Given the description of an element on the screen output the (x, y) to click on. 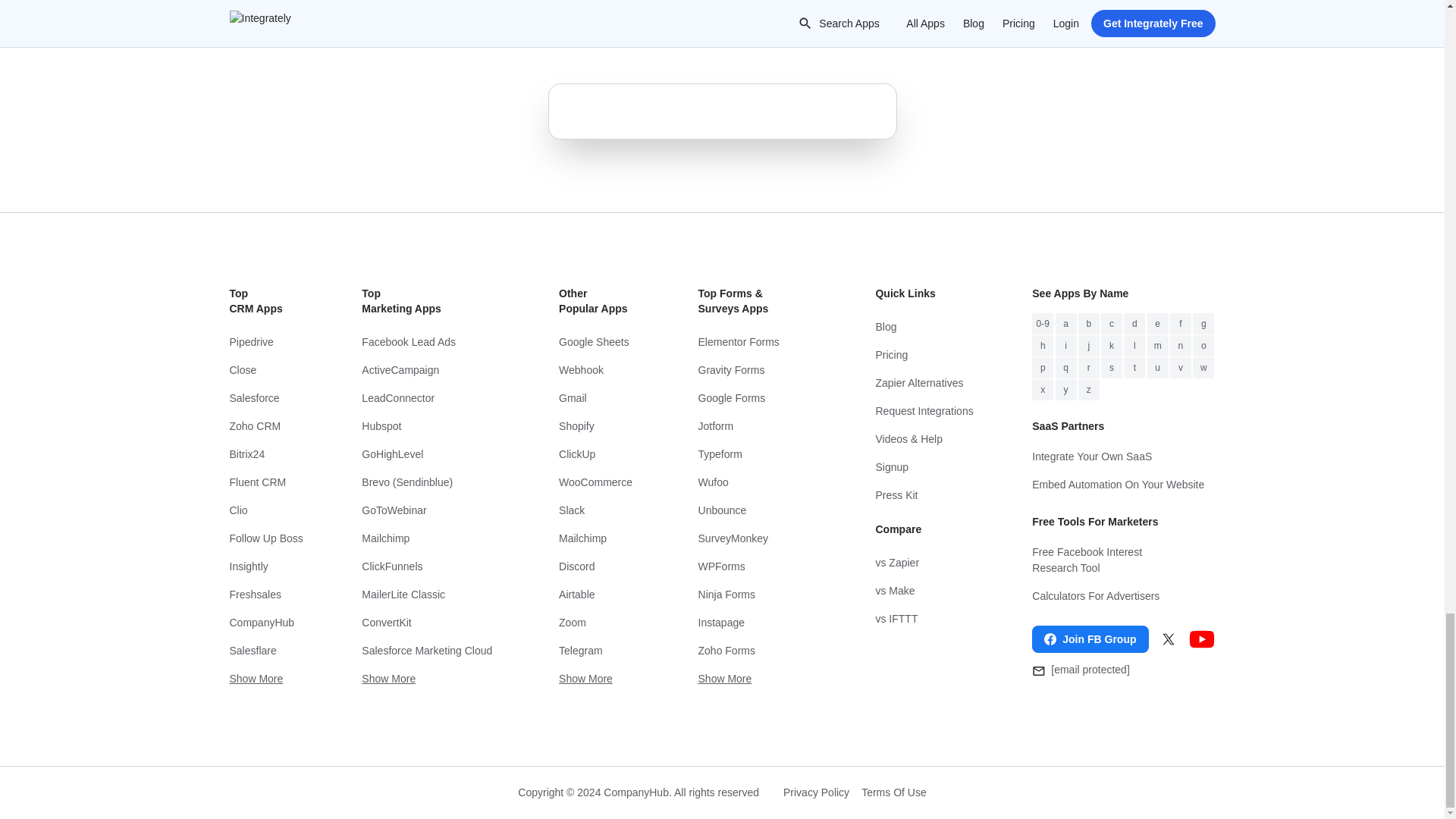
GoToWebinar (430, 510)
Bitrix24 (265, 454)
Clio (265, 510)
Follow Up Boss (265, 538)
Integrately Twitter (1167, 638)
ActiveCampaign (430, 370)
LeadConnector (430, 398)
ClickFunnels (430, 566)
Pipedrive (265, 342)
Mailchimp (430, 538)
